Given the description of an element on the screen output the (x, y) to click on. 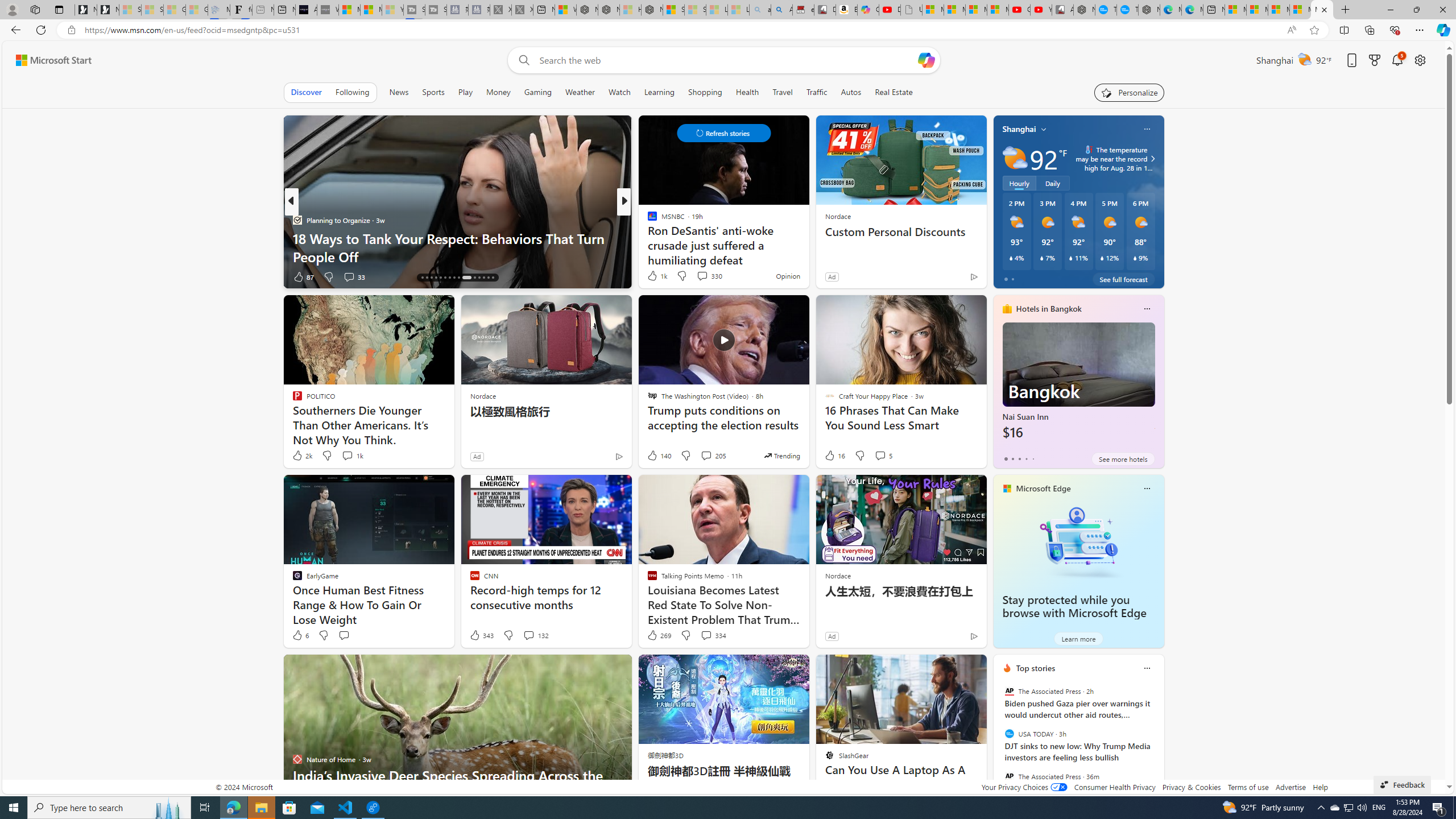
tab-0 (1005, 458)
Microsoft rewards (1374, 60)
next (1158, 741)
AutomationID: tab-27 (478, 277)
Copilot (868, 9)
ABC News (647, 219)
Partly sunny (1014, 158)
Stay protected while you browse with Microsoft Edge (1074, 606)
View comments 330 Comment (701, 275)
New tab - Sleeping (262, 9)
AutomationID: tab-30 (492, 277)
See full forecast (1123, 278)
Untitled (911, 9)
Weather (579, 92)
